Given the description of an element on the screen output the (x, y) to click on. 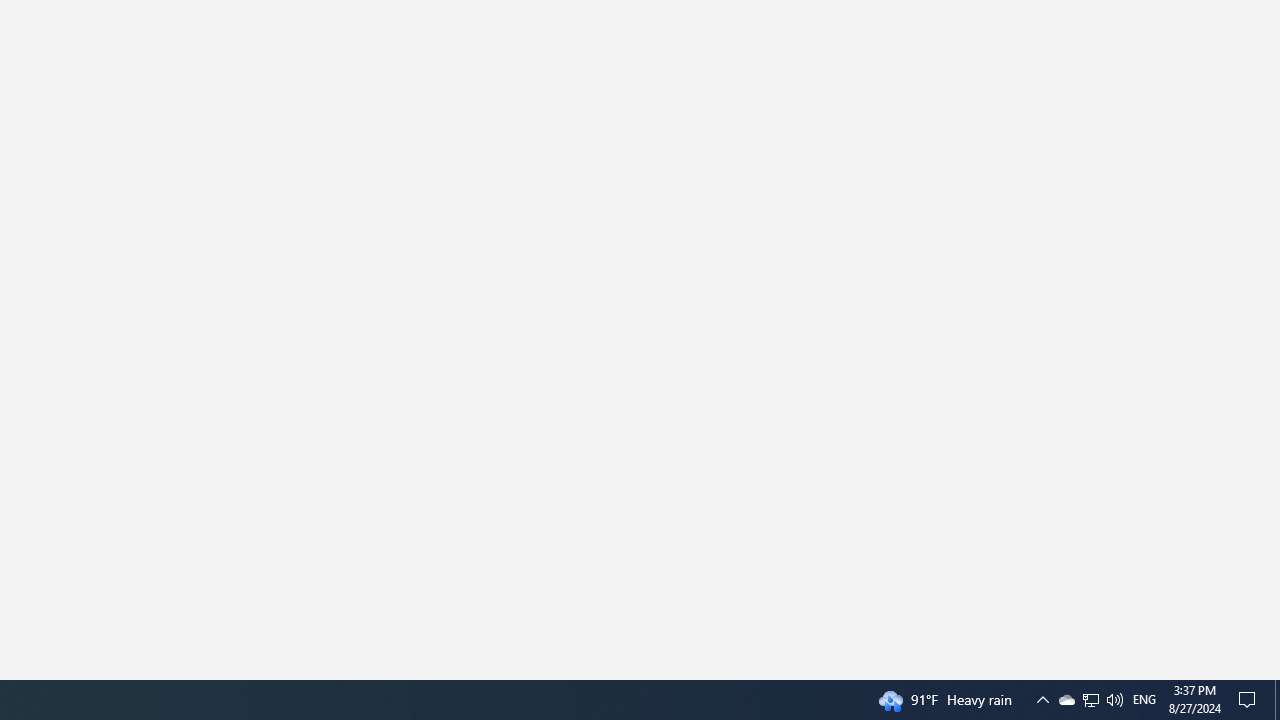
User Promoted Notification Area (1090, 699)
Show desktop (1277, 699)
Tray Input Indicator - English (United States) (1066, 699)
Q2790: 100% (1144, 699)
Action Center, No new notifications (1114, 699)
Notification Chevron (1250, 699)
Vertical Small Increase (1042, 699)
